Given the description of an element on the screen output the (x, y) to click on. 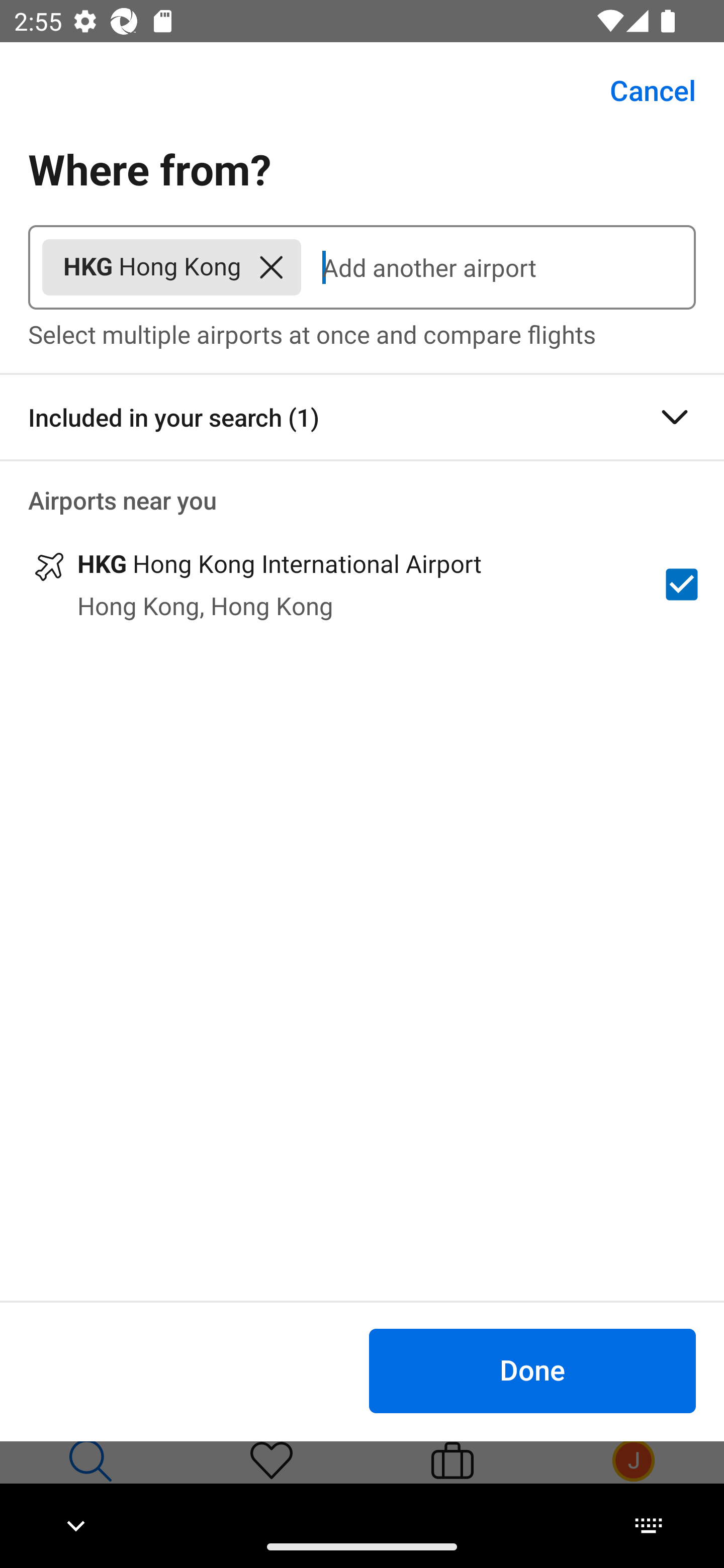
Cancel (641, 90)
Add another airport (498, 266)
HKG Hong Kong Remove HKG Hong Kong (171, 266)
Included in your search (1) (362, 416)
Done (532, 1370)
